Given the description of an element on the screen output the (x, y) to click on. 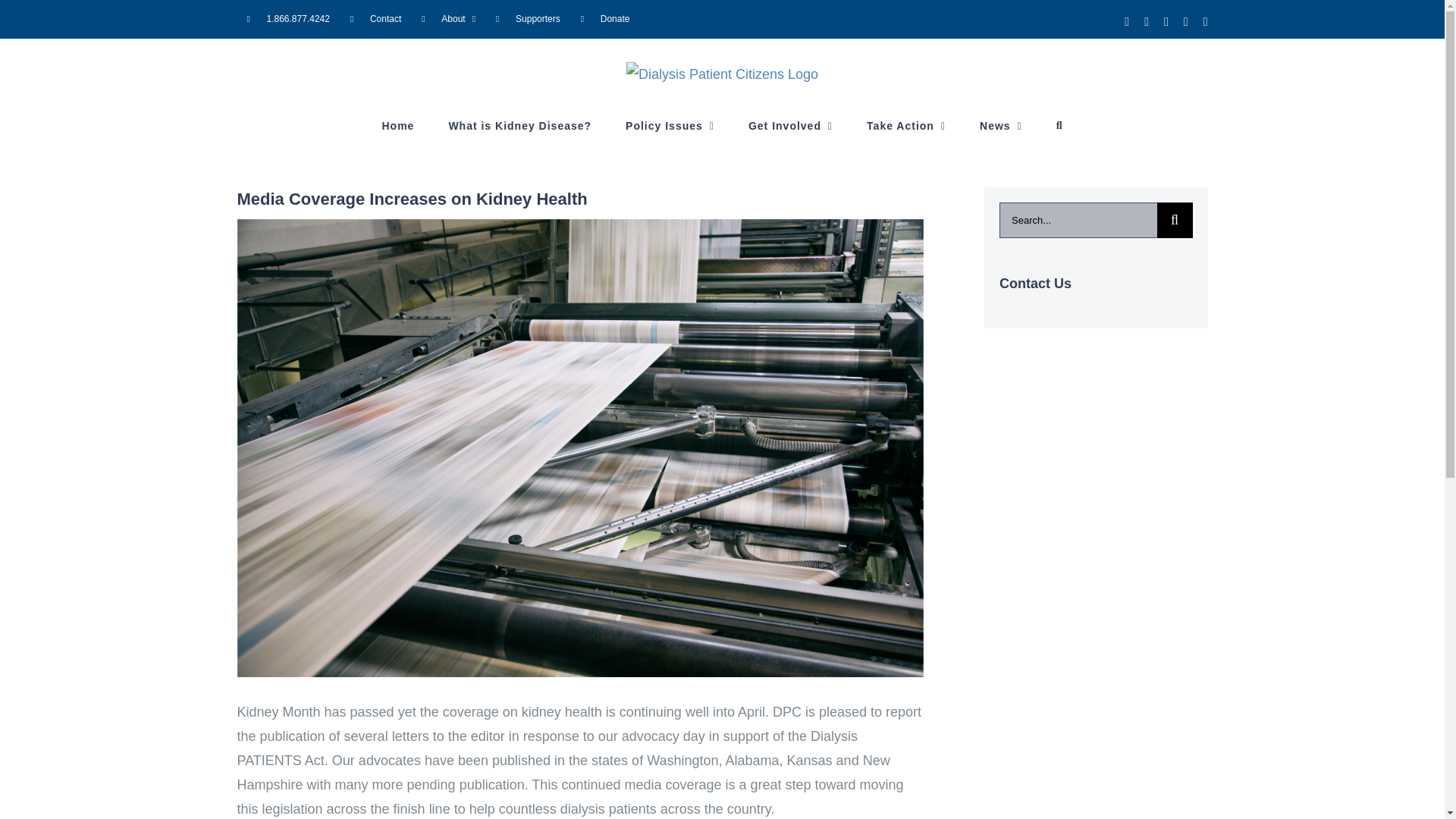
About (448, 18)
Home (397, 125)
Contact (375, 18)
Policy Issues (670, 125)
Supporters (528, 18)
1.866.877.4242 (287, 18)
Donate (605, 18)
What is Kidney Disease? (519, 125)
